Given the description of an element on the screen output the (x, y) to click on. 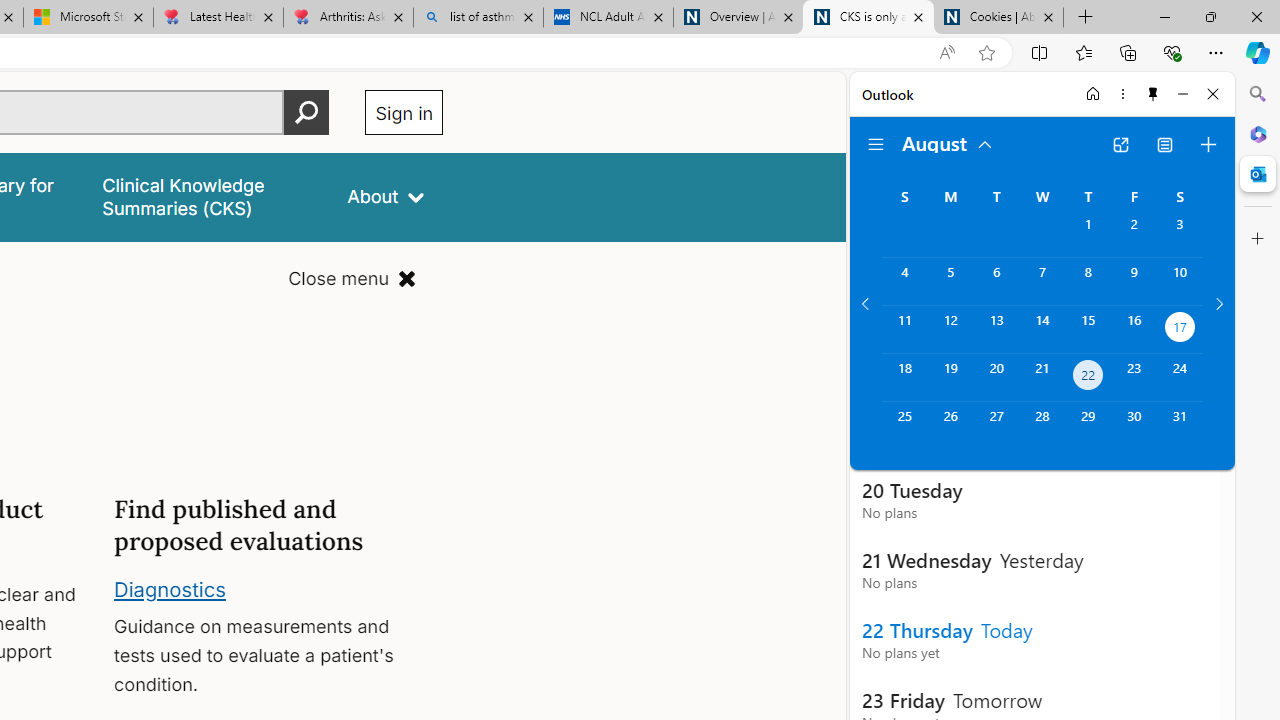
Friday, August 30, 2024.  (1134, 425)
About (386, 196)
Friday, August 2, 2024.  (1134, 233)
Monday, August 12, 2024.  (950, 329)
August (948, 141)
Friday, August 23, 2024.  (1134, 377)
Close menu (352, 278)
Sign in (404, 112)
Saturday, August 31, 2024.  (1180, 425)
Sunday, August 4, 2024.  (904, 281)
Thursday, August 29, 2024.  (1088, 425)
